Given the description of an element on the screen output the (x, y) to click on. 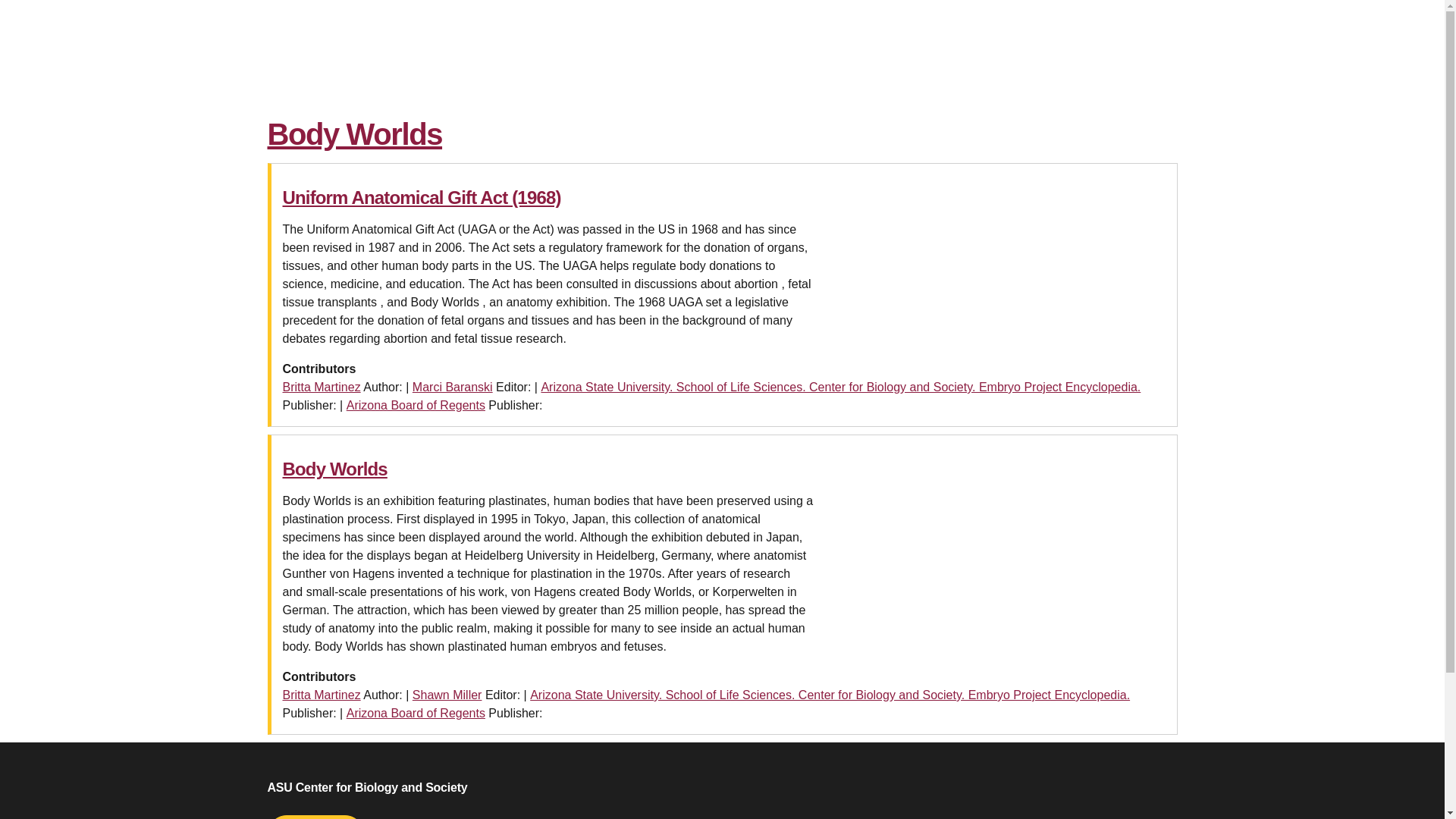
Body Worlds (354, 133)
Britta Martinez (320, 386)
Body Worlds (334, 468)
Arizona Board of Regents (415, 404)
Arizona Board of Regents (415, 712)
Britta Martinez (320, 694)
Support (314, 816)
Shawn Miller (446, 694)
Marci Baranski (452, 386)
